Given the description of an element on the screen output the (x, y) to click on. 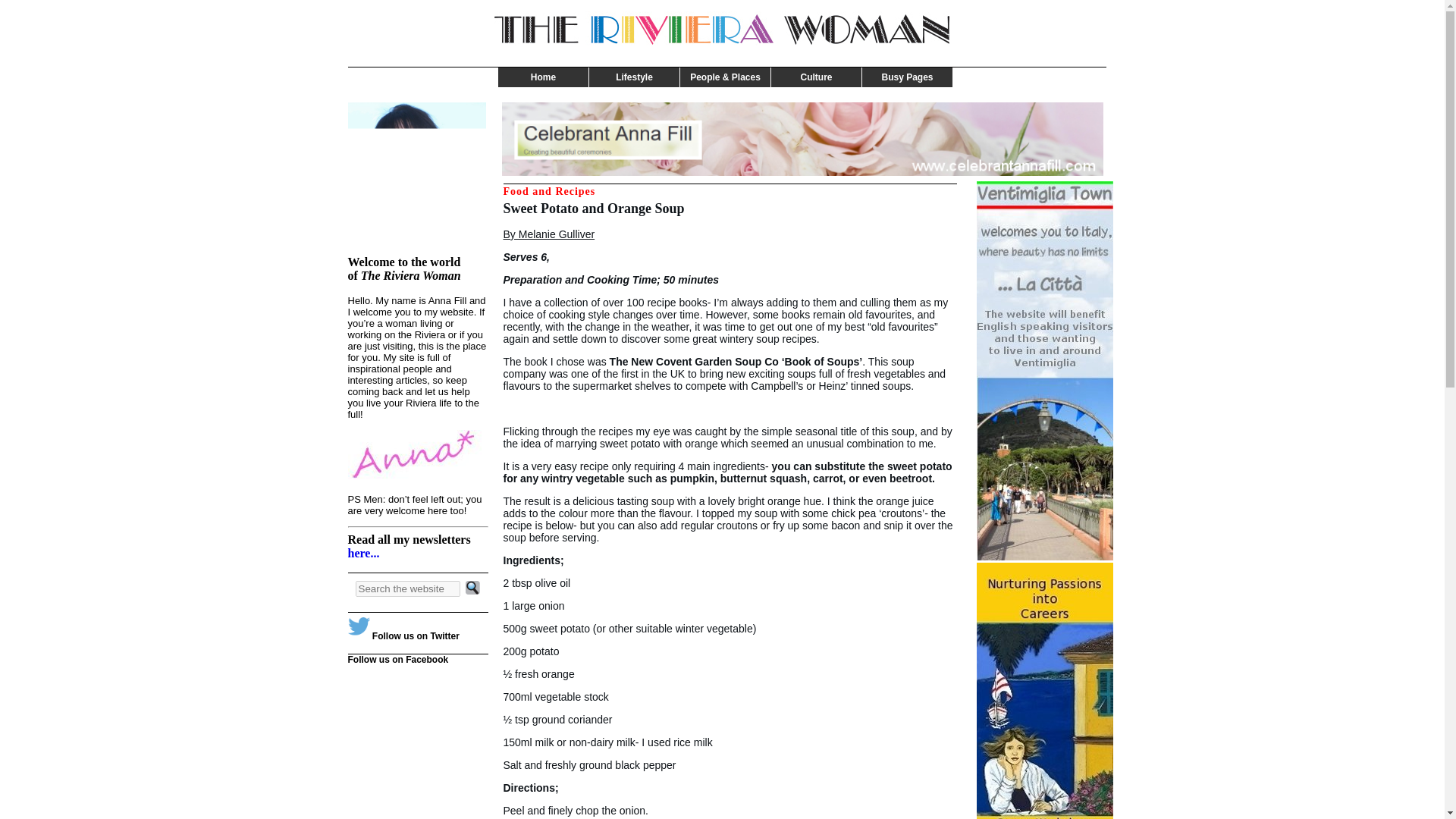
Lifestyle (634, 76)
Find articles containing this text (407, 588)
Home (543, 76)
Culture (816, 76)
Find articles containing this text (472, 587)
twitter (358, 628)
CelebrantAnnaFill (802, 139)
Busy Pages (907, 76)
here... (362, 553)
